Given the description of an element on the screen output the (x, y) to click on. 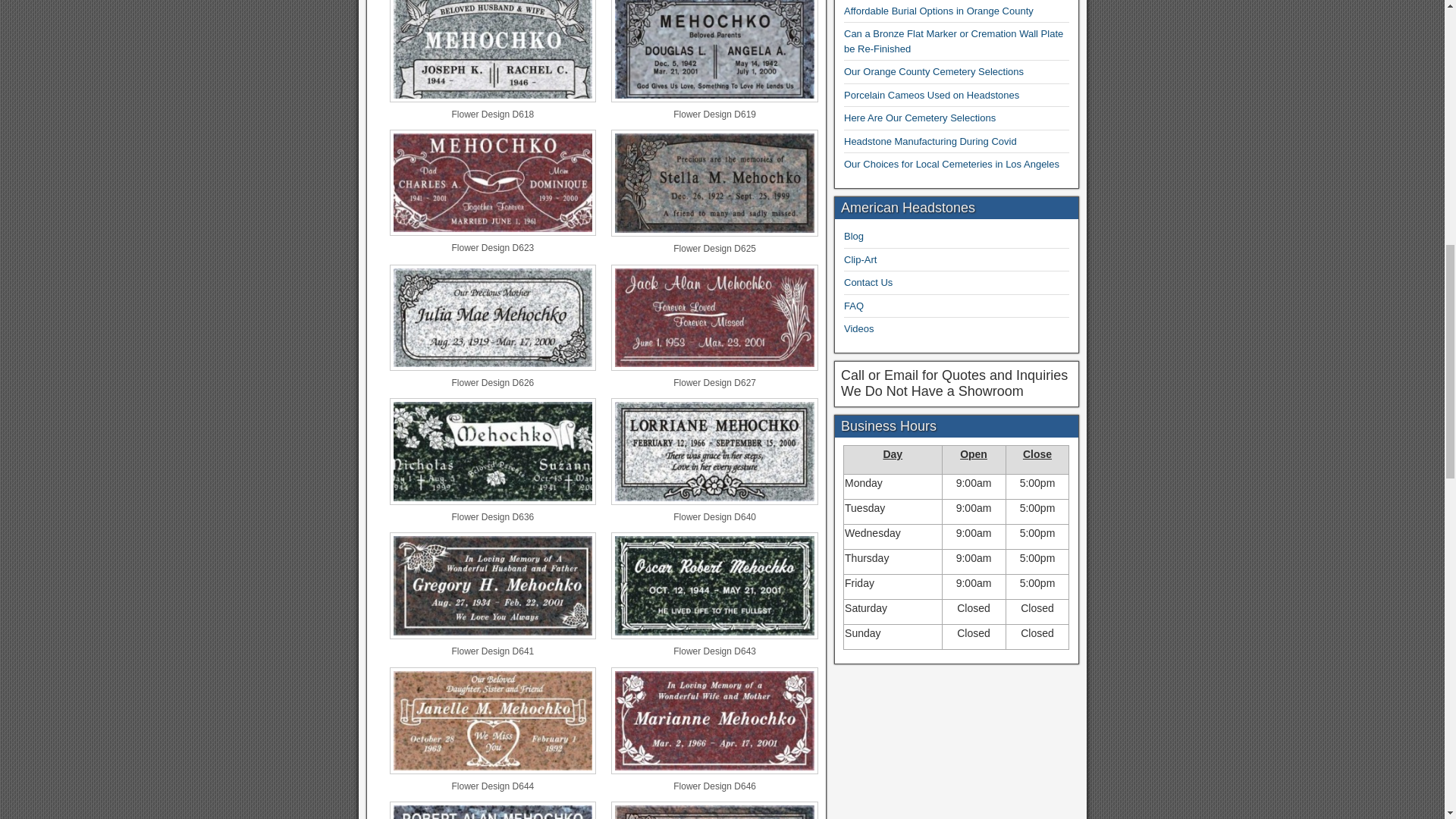
Contact Us (868, 282)
Blog (853, 235)
American Headstones Videos (859, 328)
FAQ (853, 306)
Clip Art by American Headstones (860, 259)
